Given the description of an element on the screen output the (x, y) to click on. 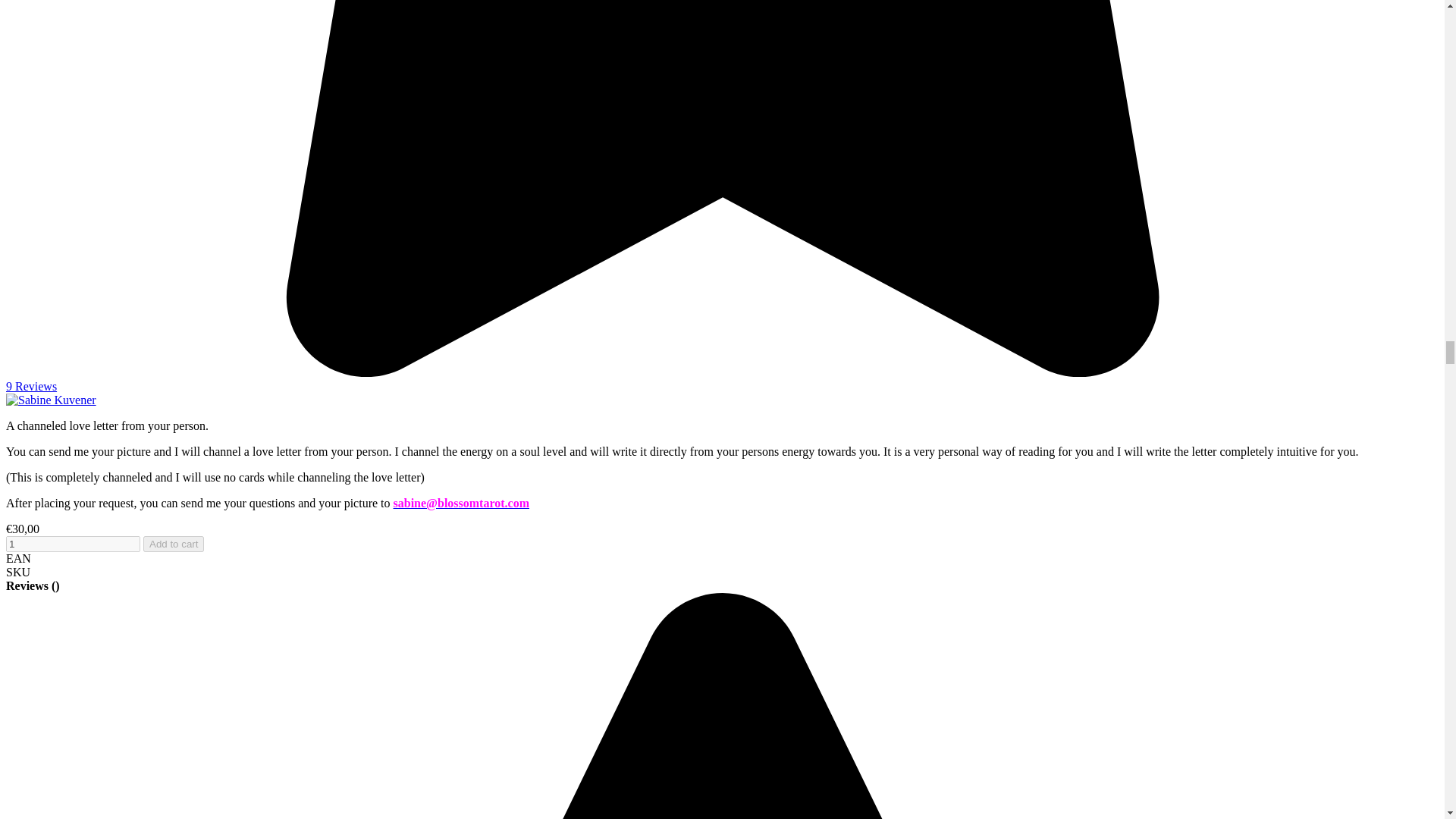
1 (72, 544)
Sabine Kuvener (50, 399)
Sabine Kuvener (50, 400)
